Given the description of an element on the screen output the (x, y) to click on. 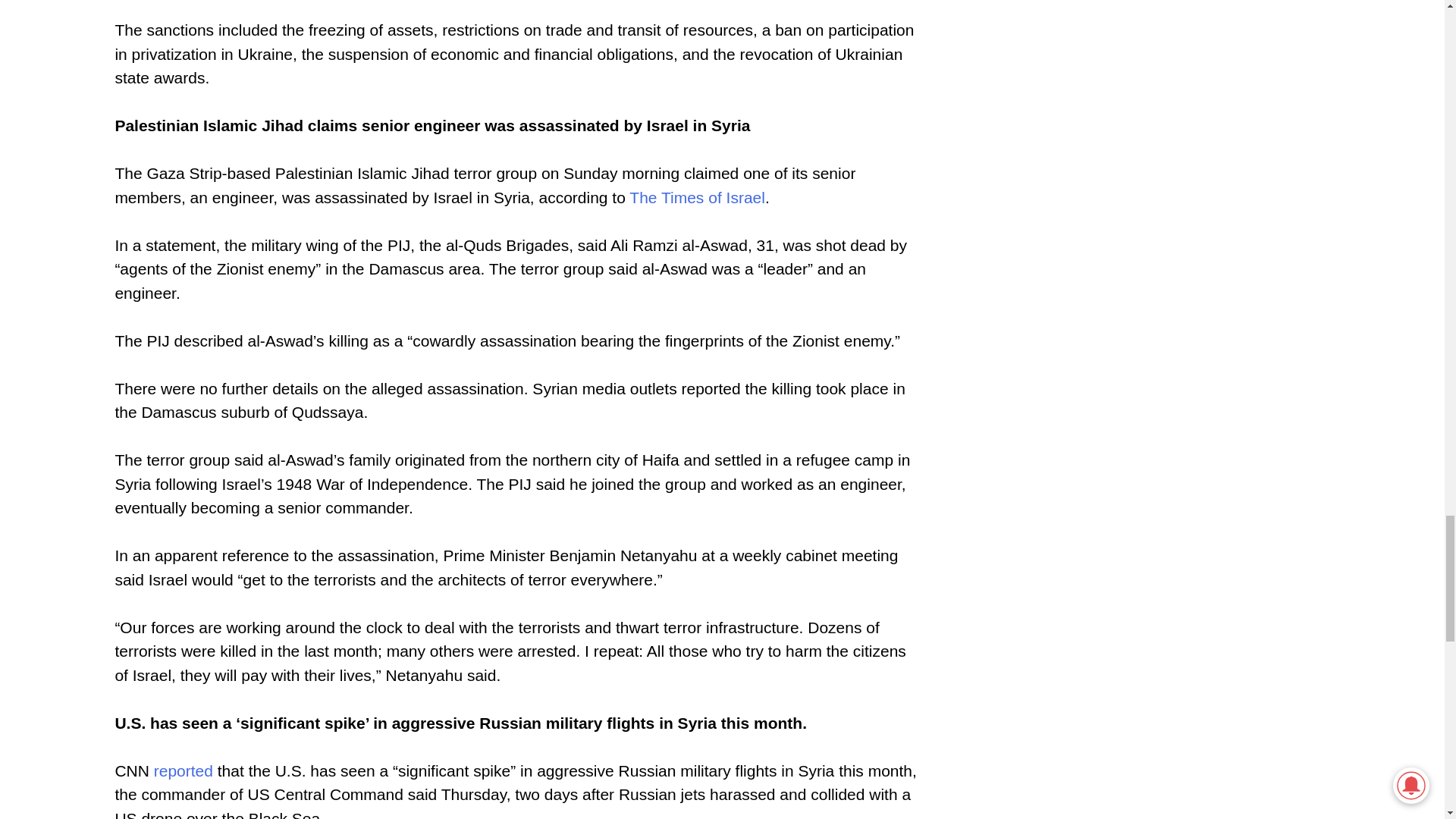
reported (183, 770)
The Times of Israel (696, 197)
